Given the description of an element on the screen output the (x, y) to click on. 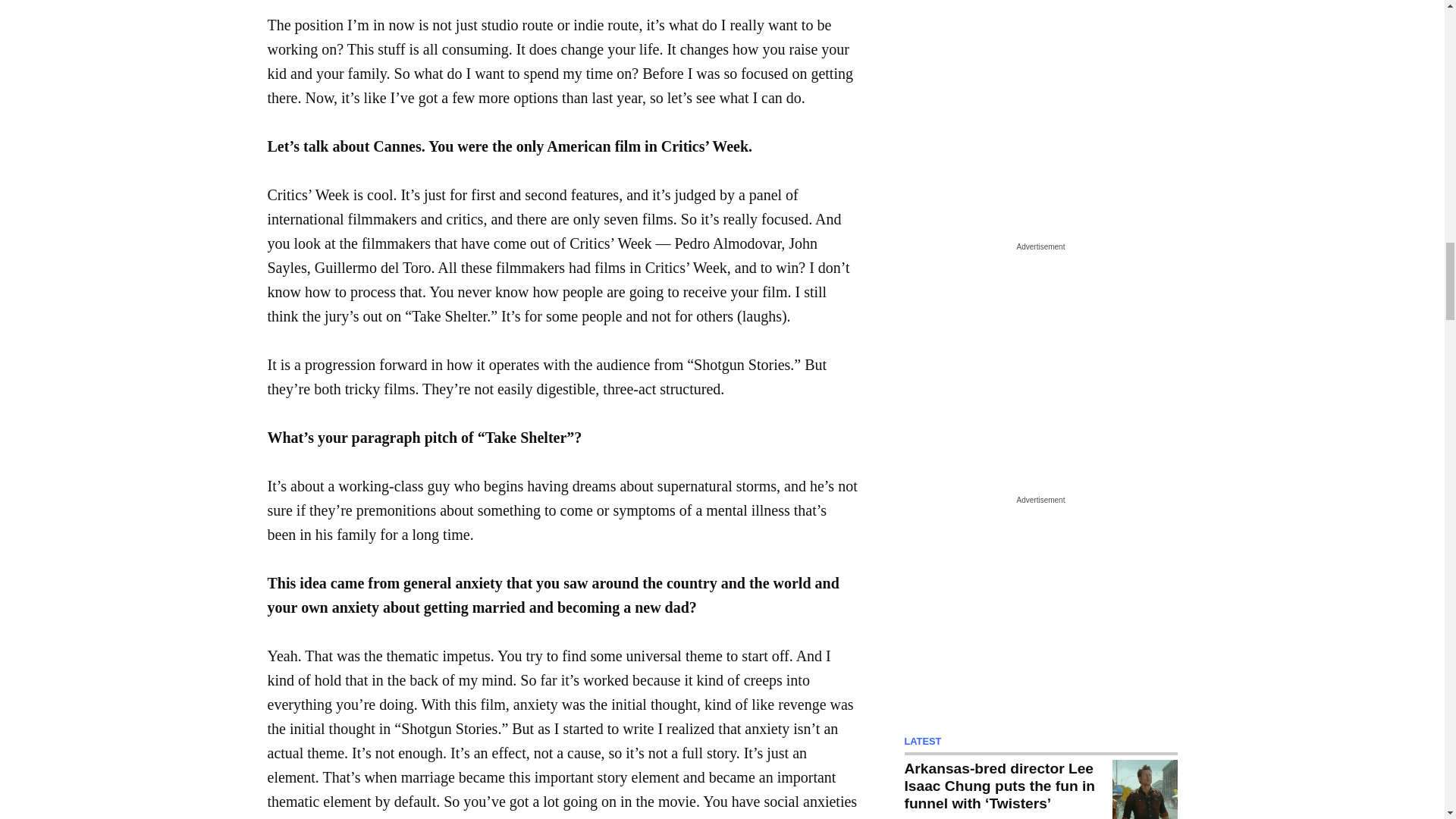
3rd party ad content (1040, 97)
3rd party ad content (1040, 604)
3rd party ad content (1040, 350)
